Given the description of an element on the screen output the (x, y) to click on. 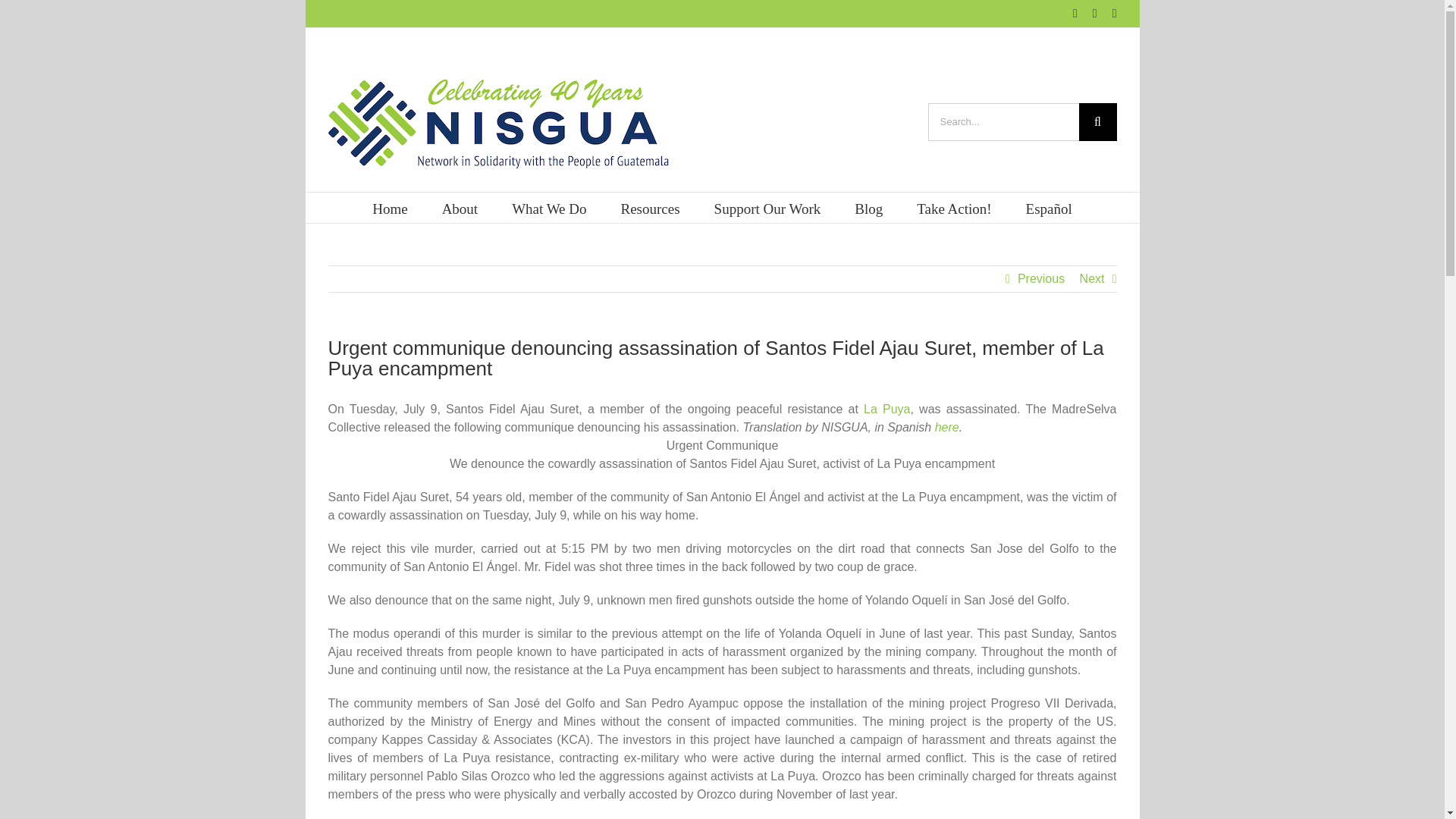
Support Our Work (767, 207)
Support Our Work (767, 207)
What We Do (549, 207)
What We Do (549, 207)
About (460, 207)
Resources (650, 207)
Home (389, 207)
Take Action! (954, 207)
Blog (868, 207)
Resources (650, 207)
